Given the description of an element on the screen output the (x, y) to click on. 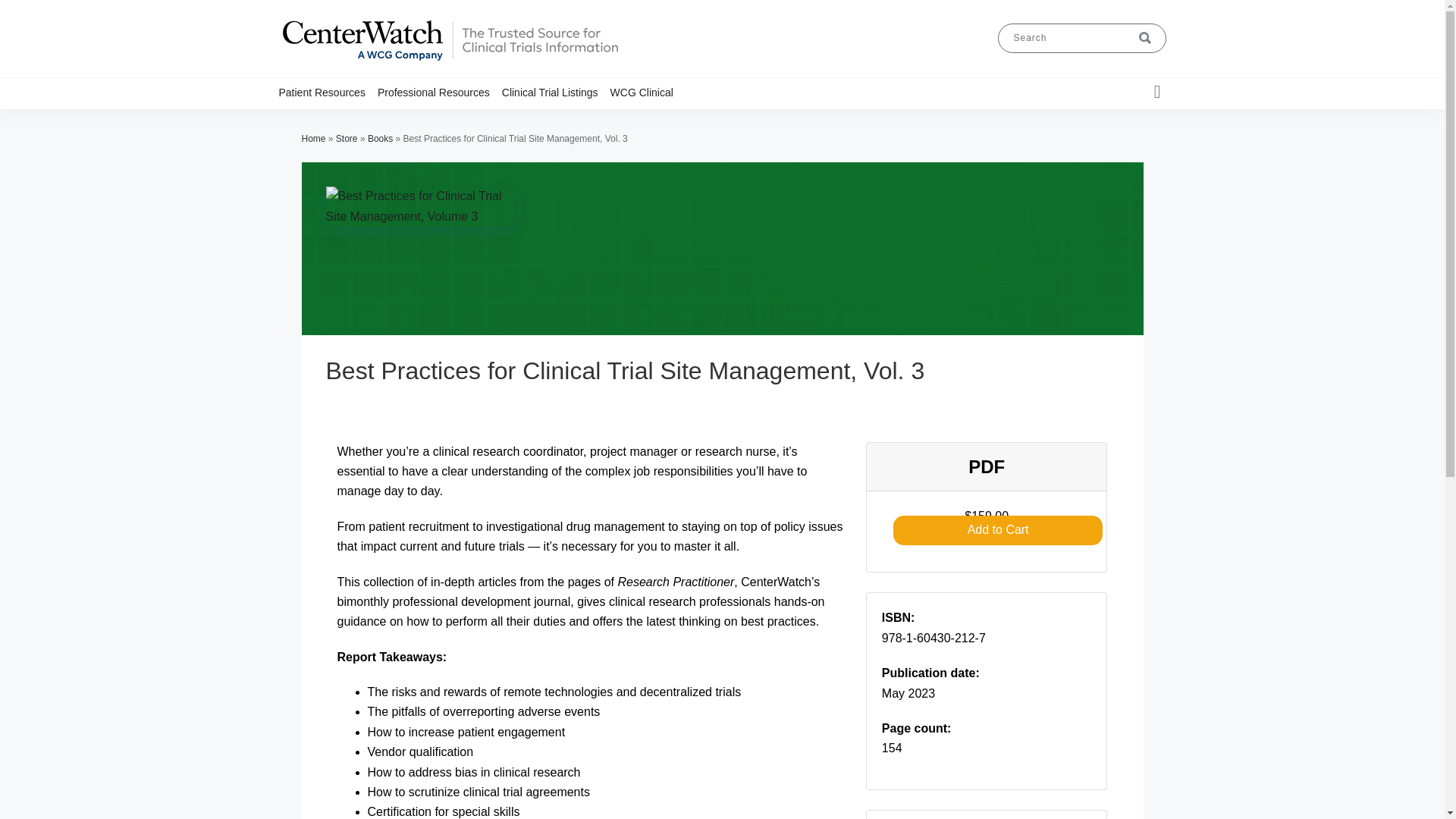
Newsletters (484, 121)
FDA Approved Drugs (372, 121)
CenterWatch Logo (449, 60)
FDA Approved Drugs (468, 121)
Clinical Trial Listings (556, 91)
Submit (1144, 37)
Professional Resources (439, 91)
SOPs (488, 121)
What are Clinical Trials? (360, 121)
Benchmark Reports (464, 121)
